Given the description of an element on the screen output the (x, y) to click on. 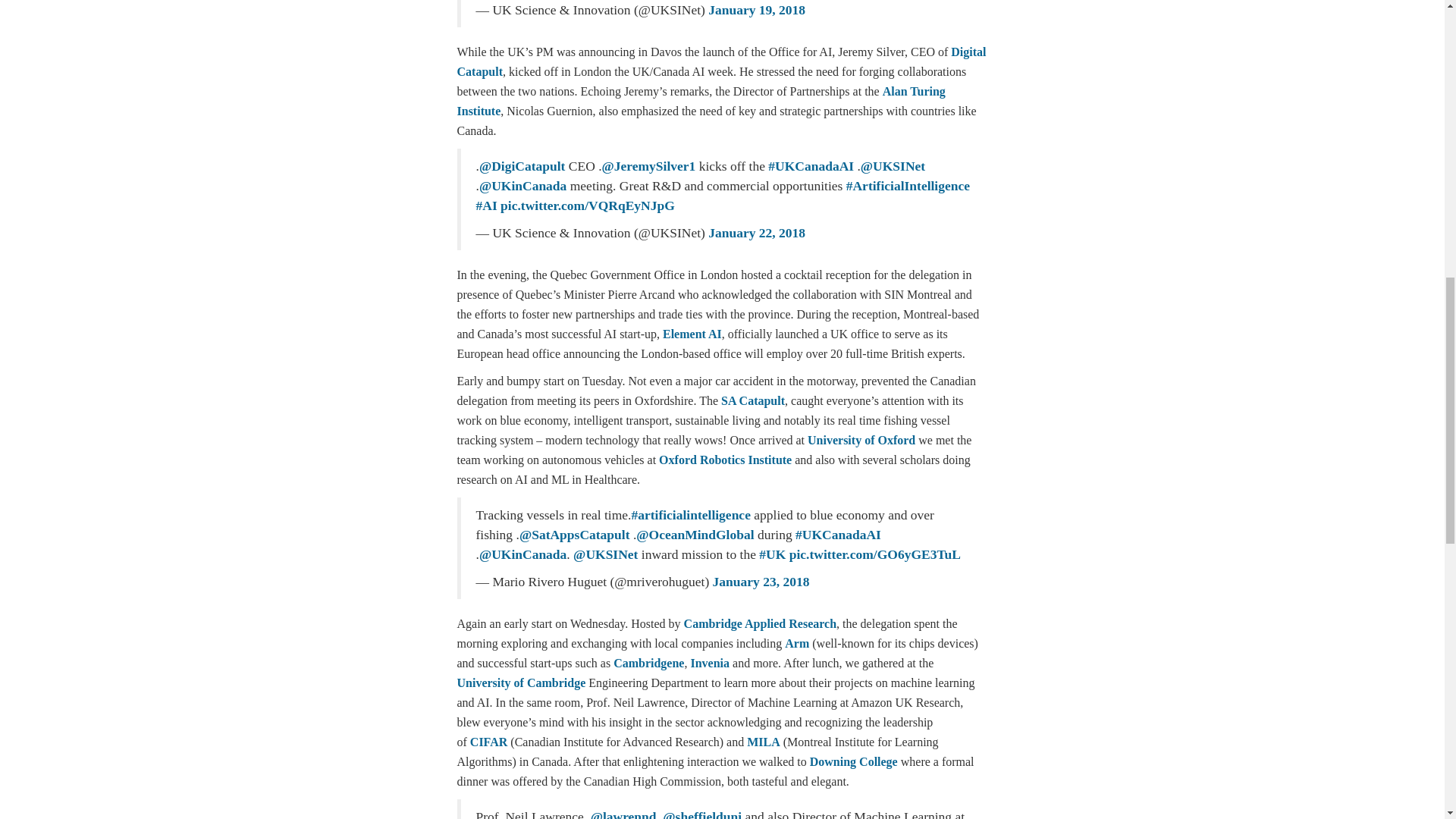
Alan Turing Institute (700, 101)
January 19, 2018 (756, 9)
SA Catapult (752, 400)
University of Oxford (861, 440)
January 22, 2018 (756, 232)
Element AI (692, 333)
Oxford Robotics Institute (725, 459)
Digital Catapult (721, 61)
